Given the description of an element on the screen output the (x, y) to click on. 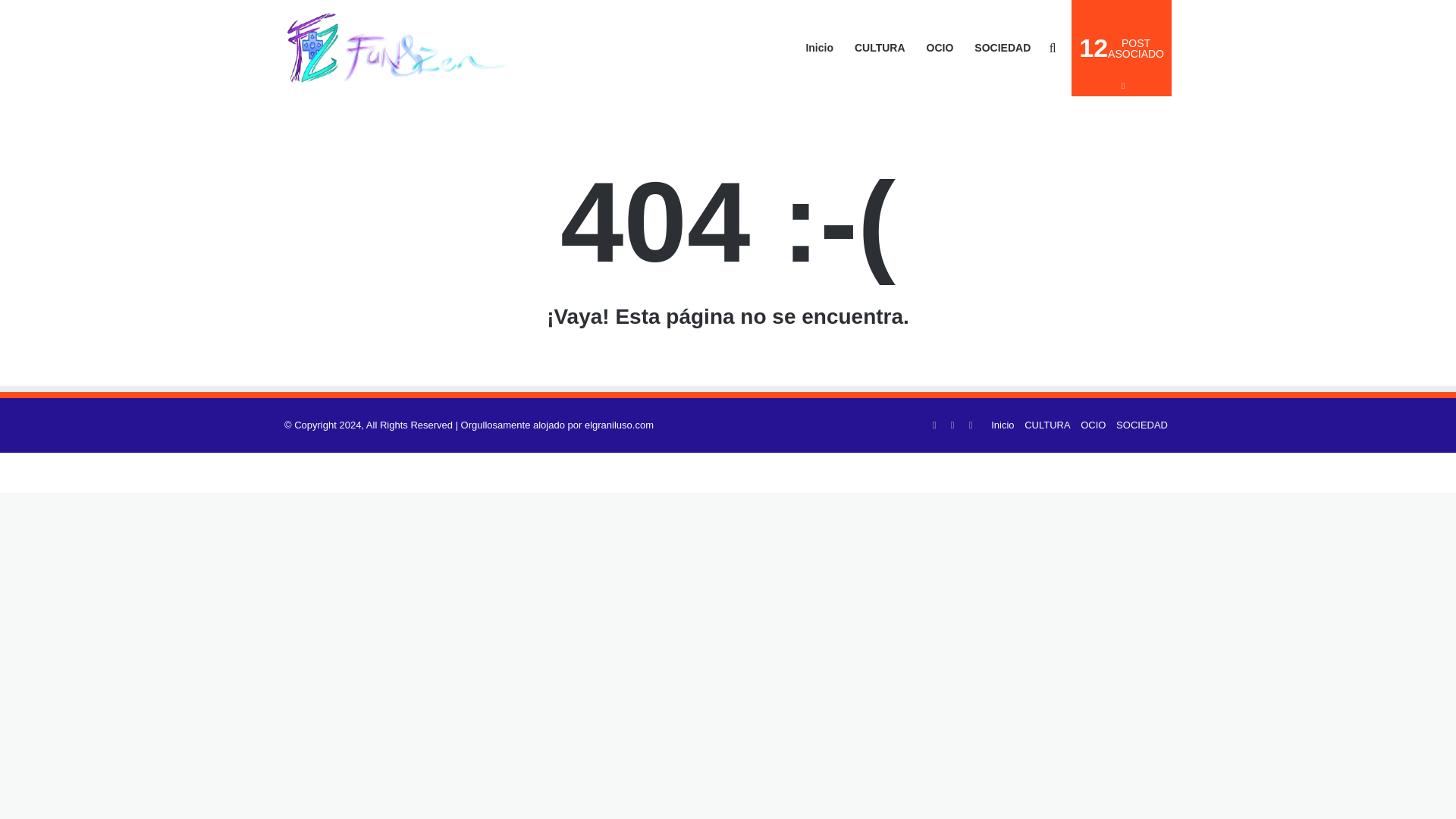
Inicio (1002, 424)
X (951, 425)
YouTube (969, 425)
OCIO (1121, 48)
CULTURA (1092, 424)
SOCIEDAD (1047, 424)
Facebook (1141, 424)
